Given the description of an element on the screen output the (x, y) to click on. 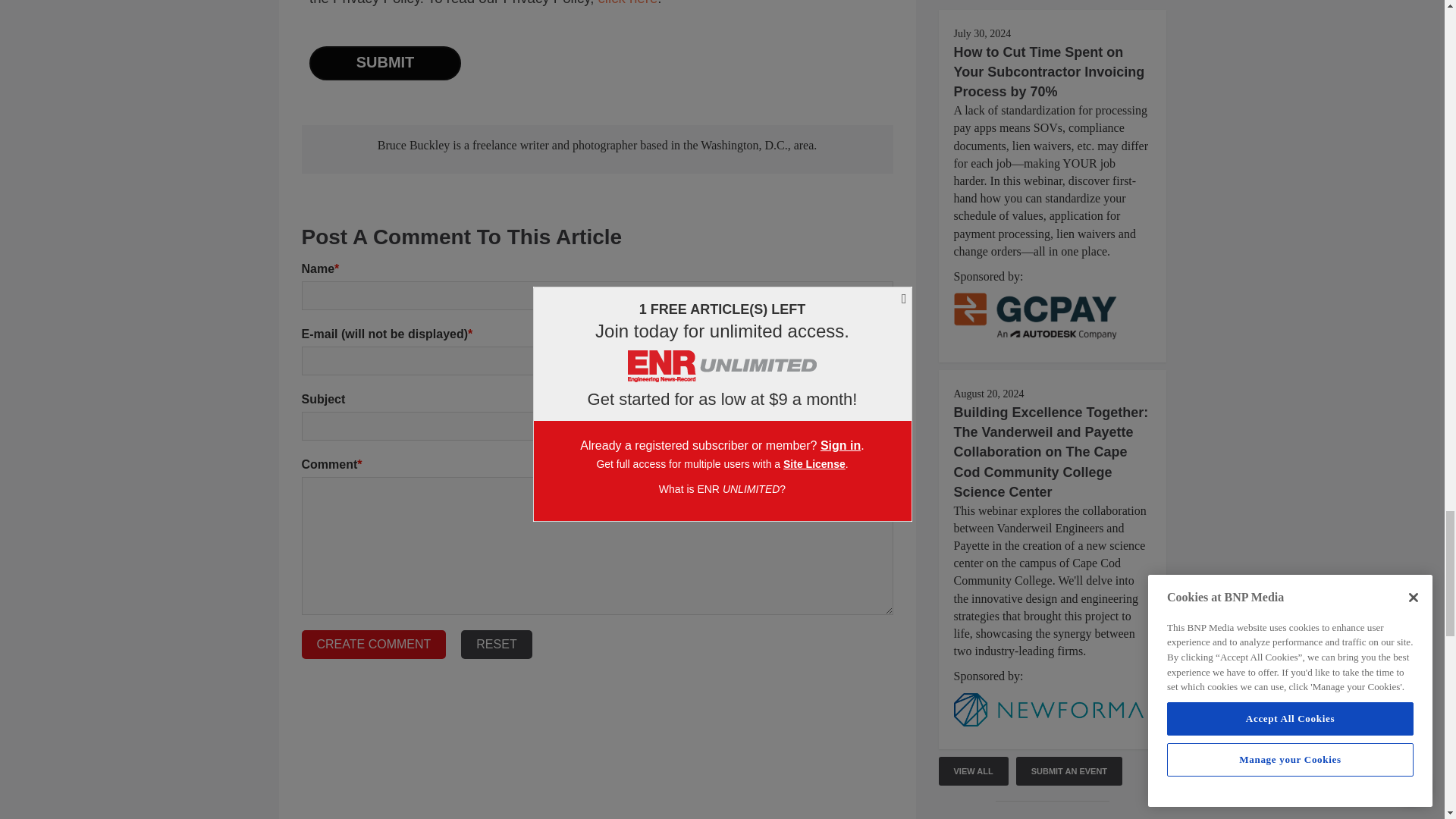
Interaction questions (597, 43)
Create Comment (373, 644)
Reset (496, 644)
